Given the description of an element on the screen output the (x, y) to click on. 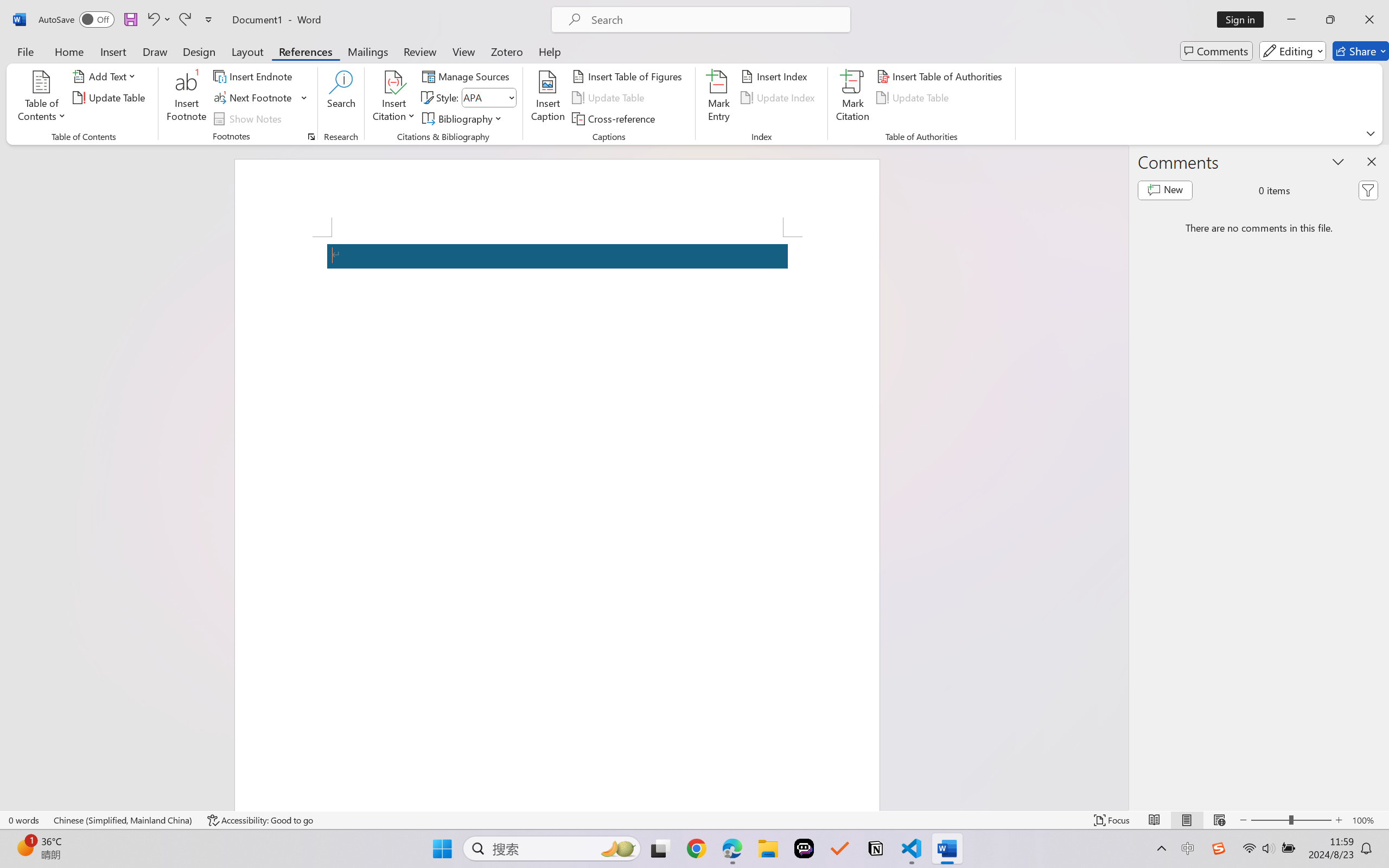
Cross-reference... (615, 118)
Update Table... (110, 97)
Style (483, 96)
Insert Endnote (253, 75)
Language Chinese (Simplified, Mainland China) (123, 819)
Style (488, 97)
Insert Index... (775, 75)
Update Index (778, 97)
Show Notes (248, 118)
